Given the description of an element on the screen output the (x, y) to click on. 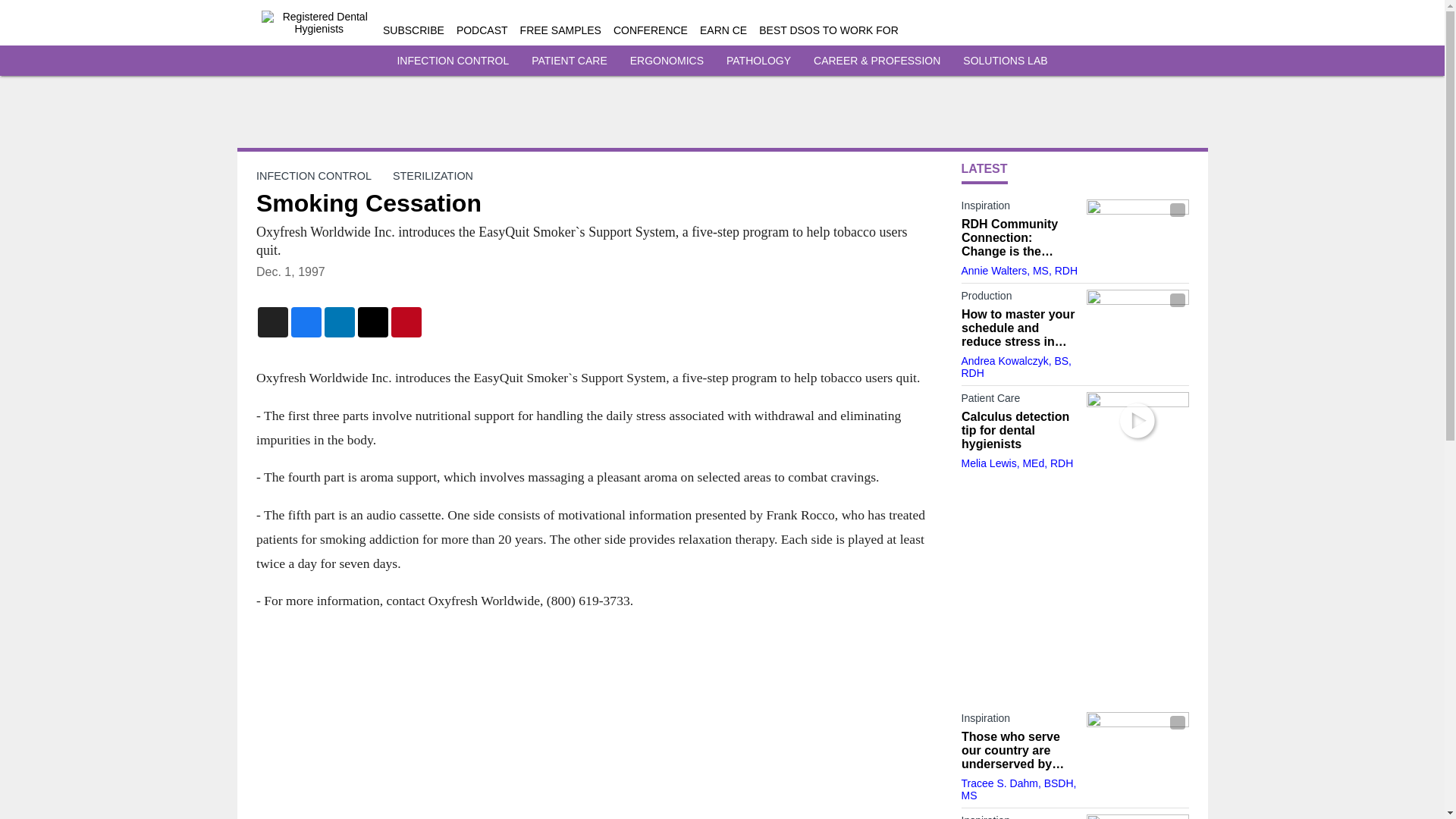
Patient Care (1019, 401)
Annie Walters, MS, RDH (1019, 270)
Production (1019, 298)
INFECTION CONTROL (313, 175)
PATIENT CARE (569, 60)
Melia Lewis, MEd, RDH (1017, 463)
Tracee S. Dahm, BSDH, MS (1018, 789)
BEST DSOS TO WORK FOR (828, 30)
EARN CE (723, 30)
ERGONOMICS (666, 60)
PATHOLOGY (758, 60)
Inspiration (1019, 816)
Inspiration (1019, 720)
